Given the description of an element on the screen output the (x, y) to click on. 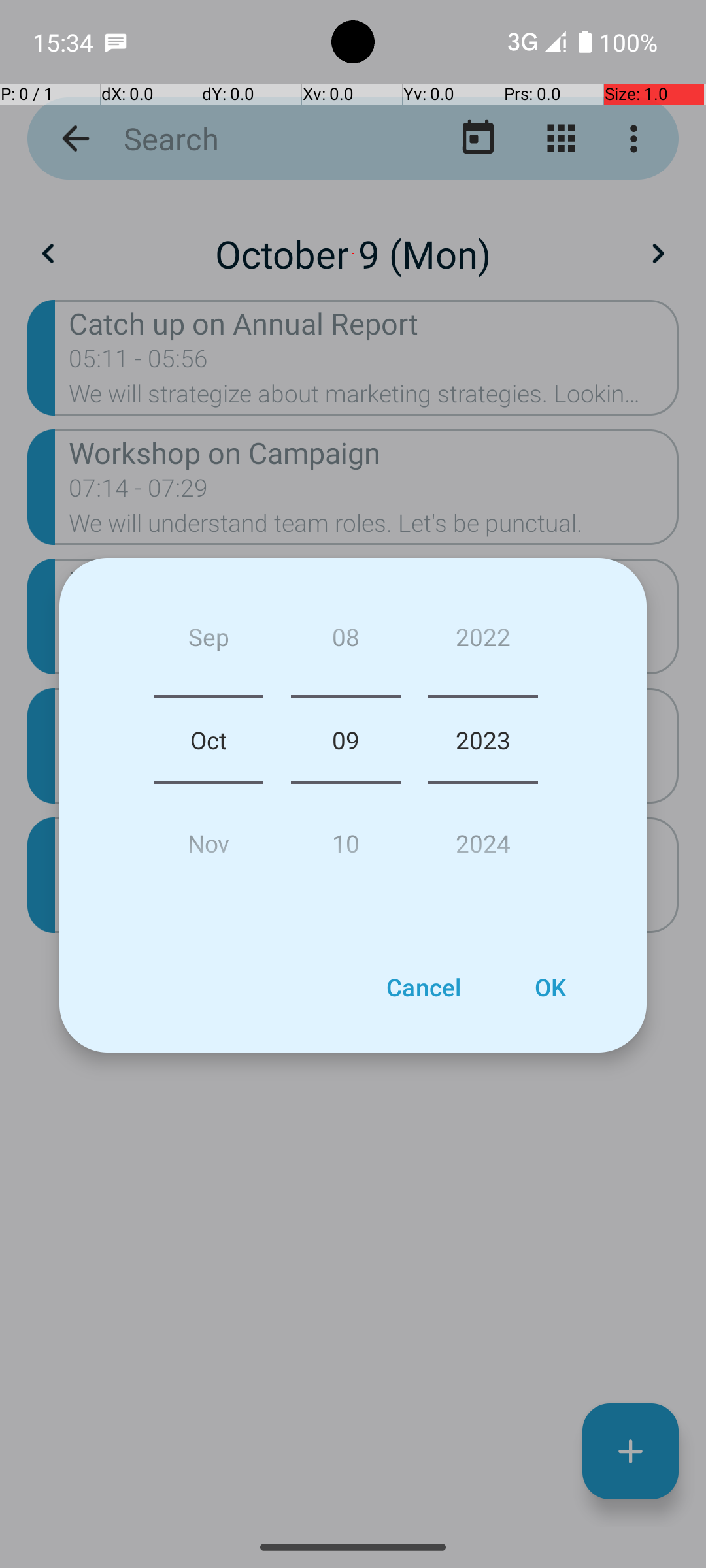
08 Element type: android.widget.Button (345, 641)
09 Element type: android.widget.EditText (345, 739)
